Given the description of an element on the screen output the (x, y) to click on. 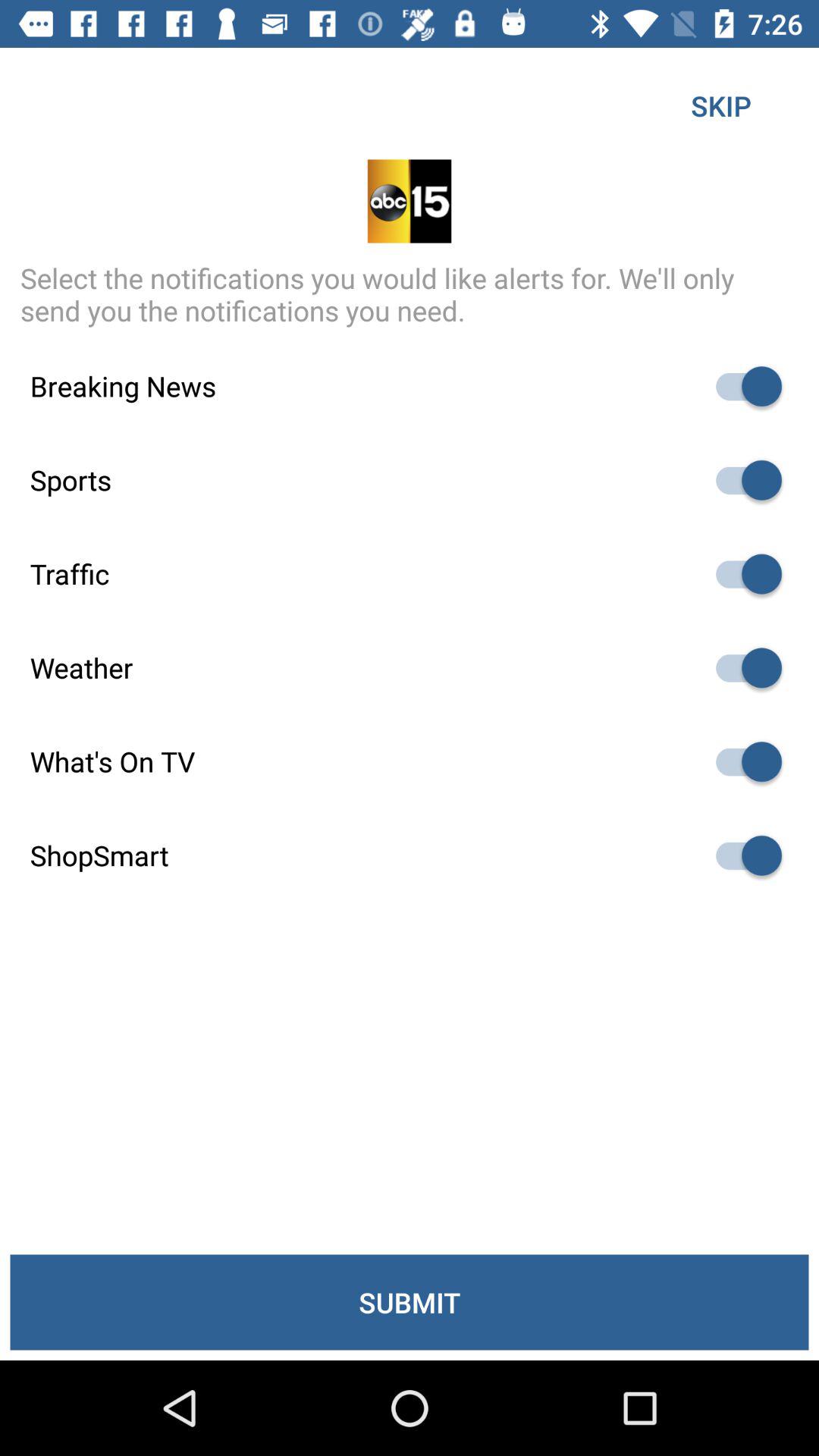
turn on/off alerts for shopsmart (741, 855)
